Given the description of an element on the screen output the (x, y) to click on. 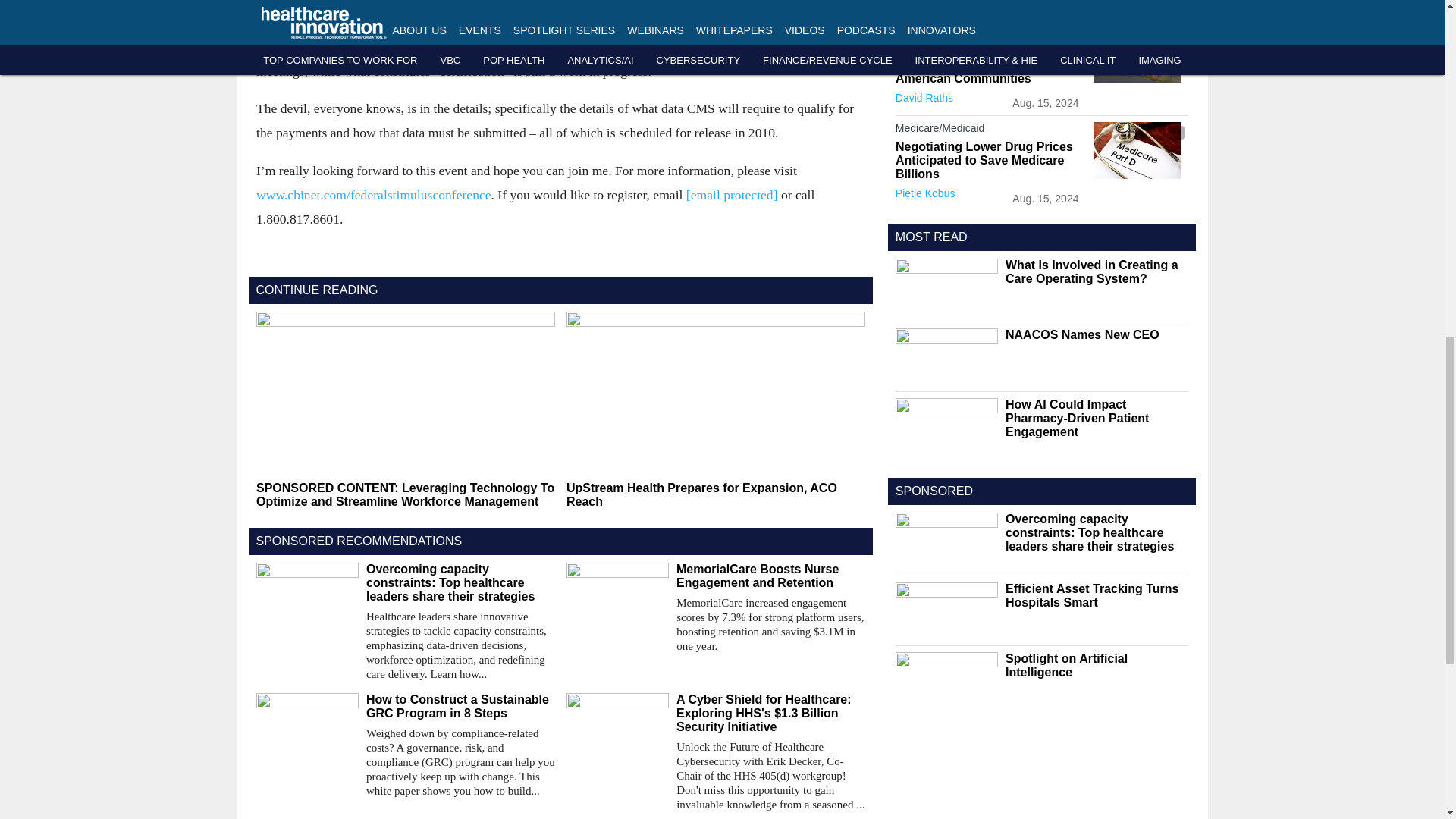
MemorialCare Boosts Nurse Engagement and Retention (770, 575)
UpStream Health Prepares for Expansion, ACO Reach (715, 494)
How to Construct a Sustainable GRC Program in 8 Steps (459, 706)
